Given the description of an element on the screen output the (x, y) to click on. 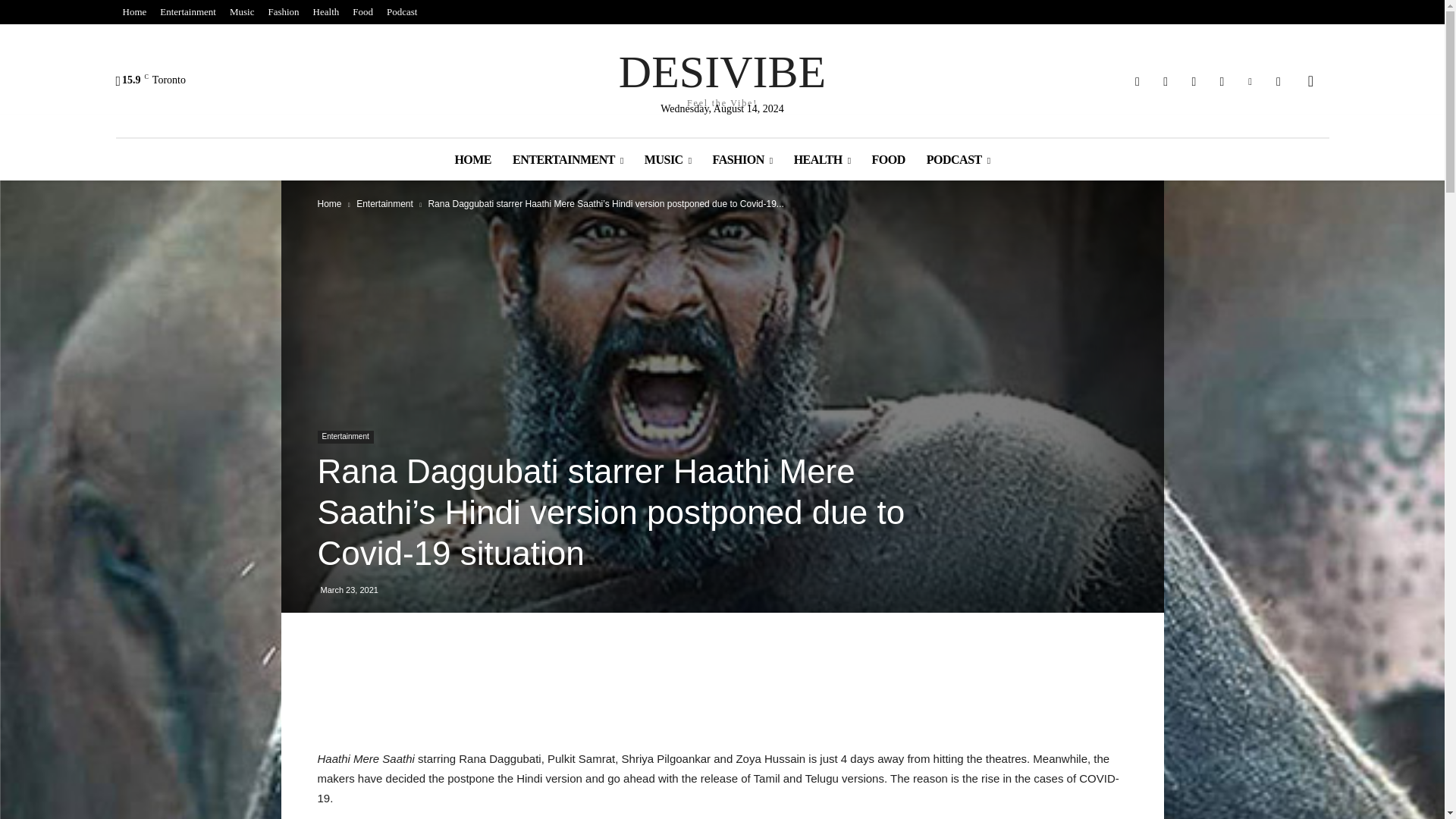
Home (133, 12)
Entertainment (187, 12)
Podcast (401, 12)
Fashion (282, 12)
Health (722, 76)
Food (325, 12)
Music (363, 12)
